Given the description of an element on the screen output the (x, y) to click on. 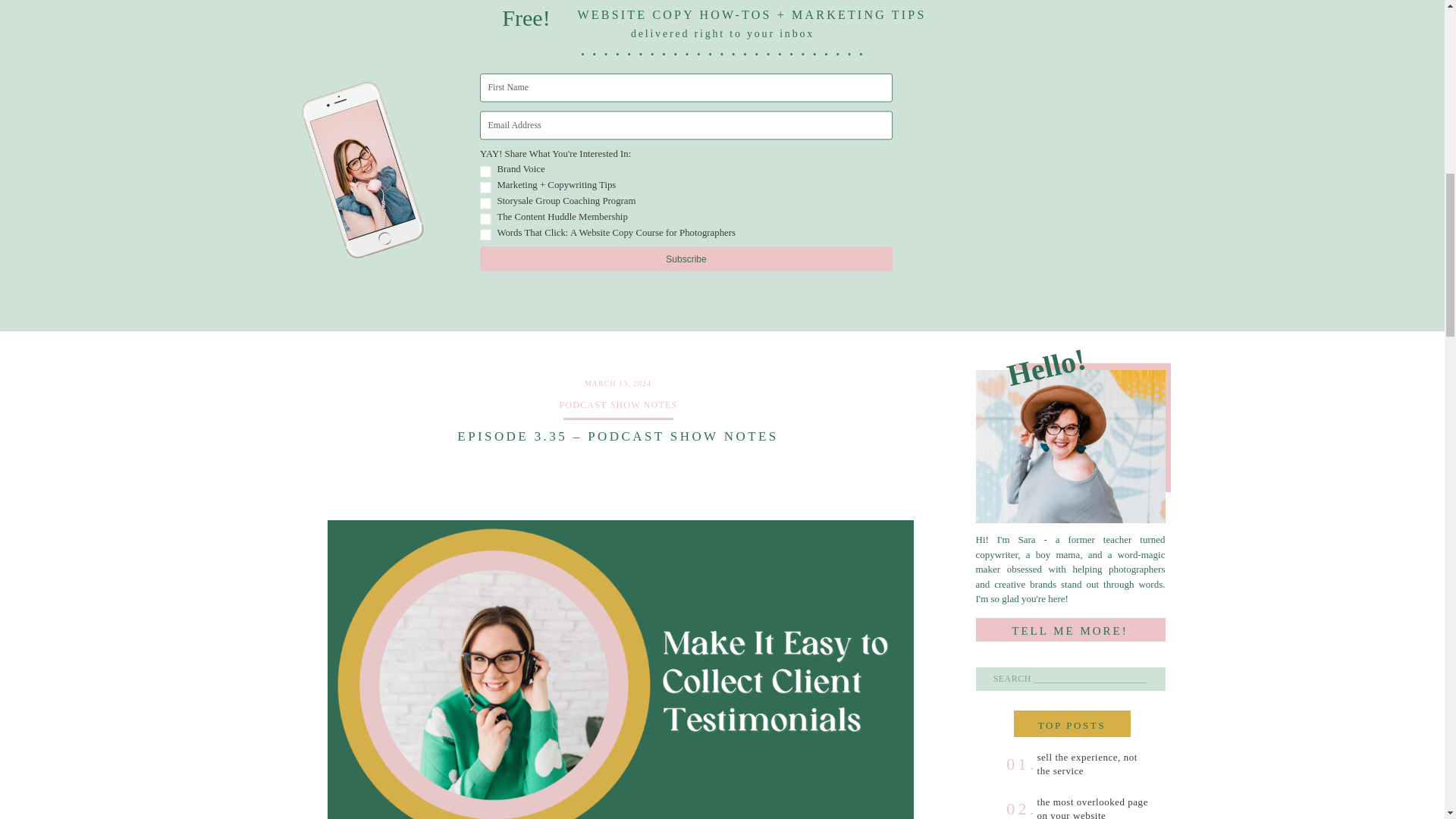
Subscribe (736, 261)
sell the experience, not the service (1087, 763)
the most overlooked page on your website (1093, 807)
